Given the description of an element on the screen output the (x, y) to click on. 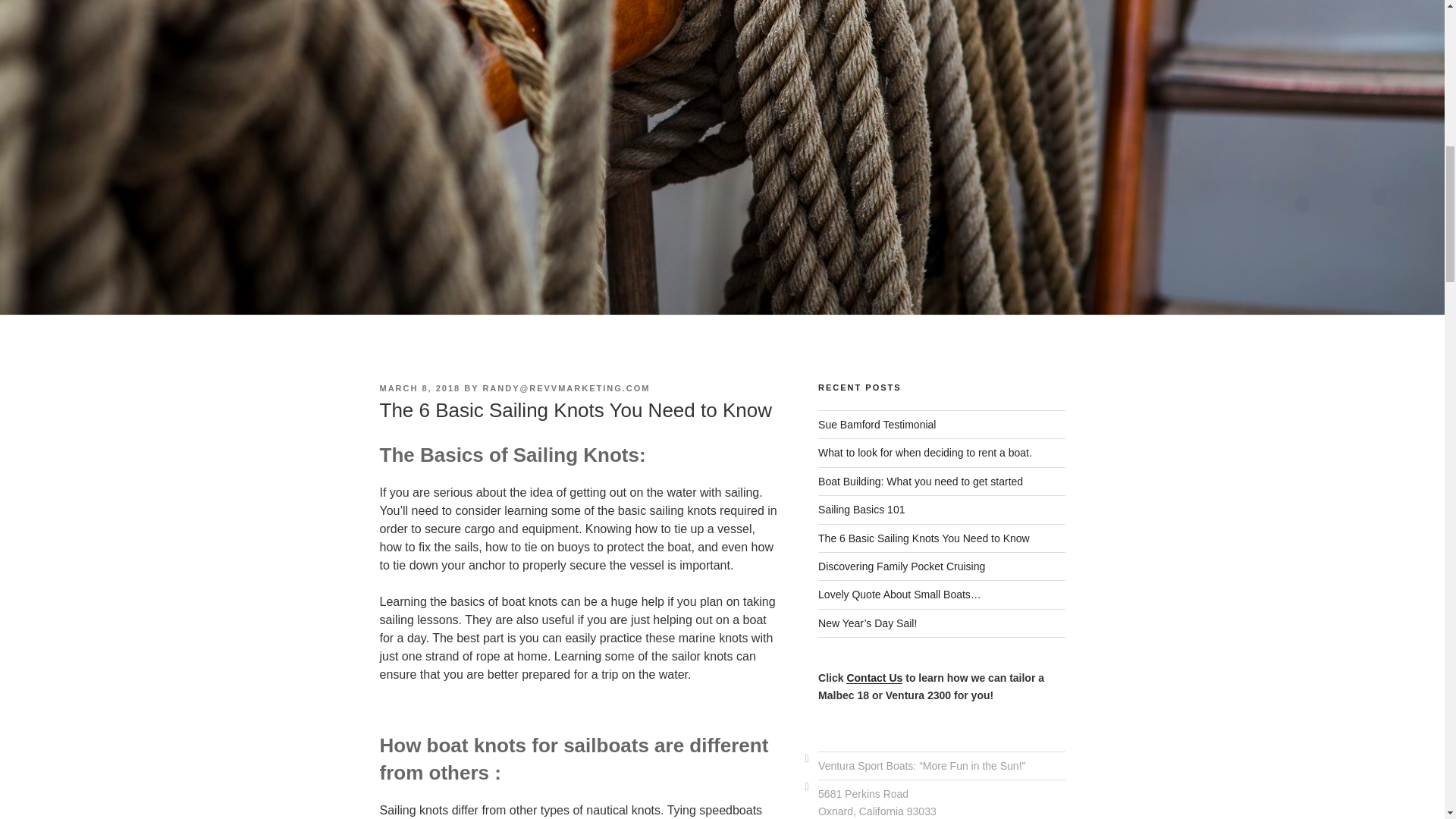
Sue Bamford Testimonial (877, 424)
Sailing Basics 101 (861, 509)
What to look for when deciding to rent a boat. (925, 452)
Discovering Family Pocket Cruising (901, 566)
MARCH 8, 2018 (419, 388)
Boat Building: What you need to get started (920, 481)
The 6 Basic Sailing Knots You Need to Know (923, 538)
Contact Us (873, 677)
